Given the description of an element on the screen output the (x, y) to click on. 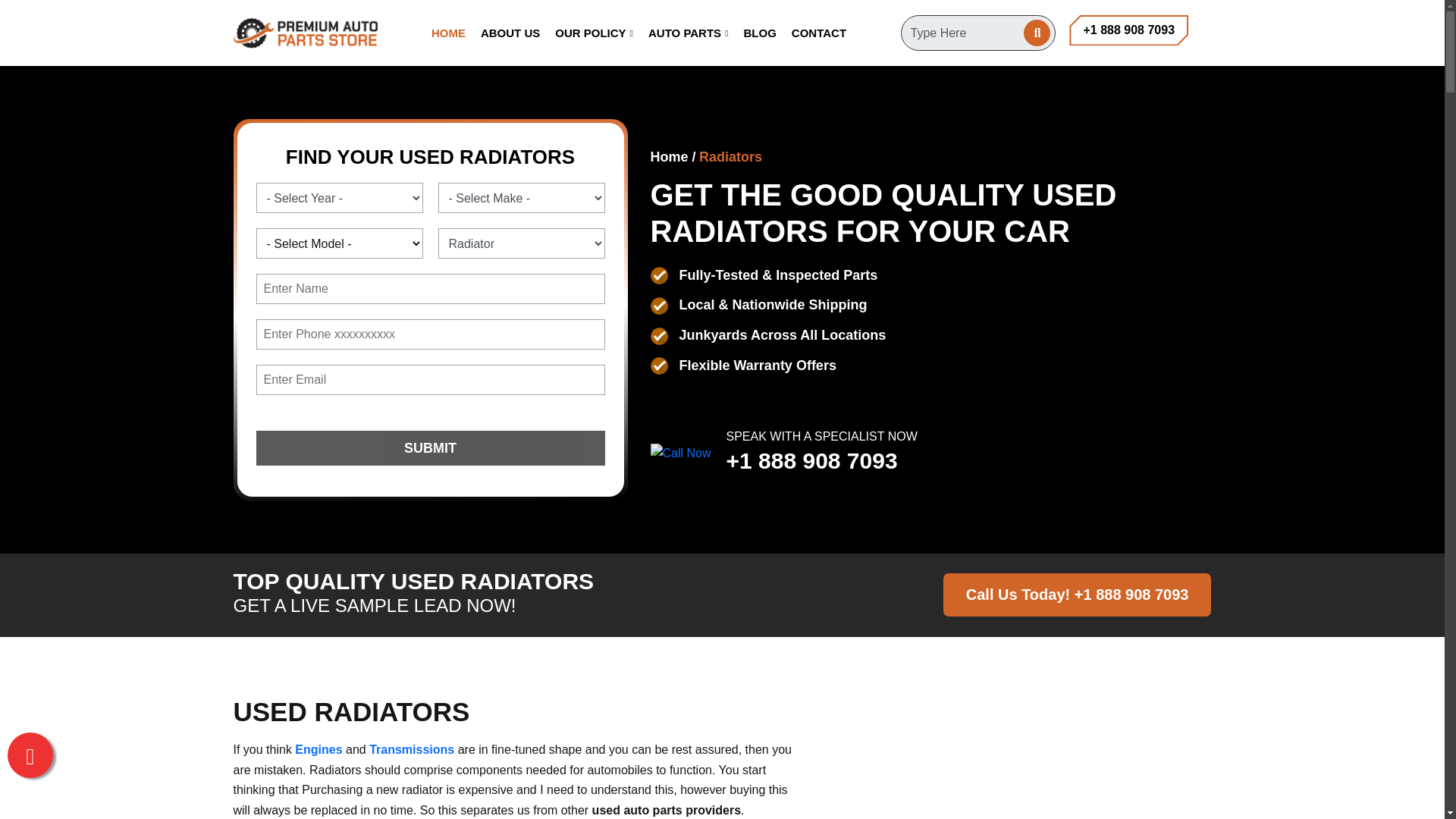
CONTACT (818, 33)
Submit (430, 448)
No email addresses or URLs allowed (430, 288)
no email addresses or URLs allowed (430, 334)
OUR POLICY (593, 33)
HOME (447, 33)
Engines (318, 750)
ABOUT US (510, 33)
Submit (430, 448)
BLOG (760, 33)
